Given the description of an element on the screen output the (x, y) to click on. 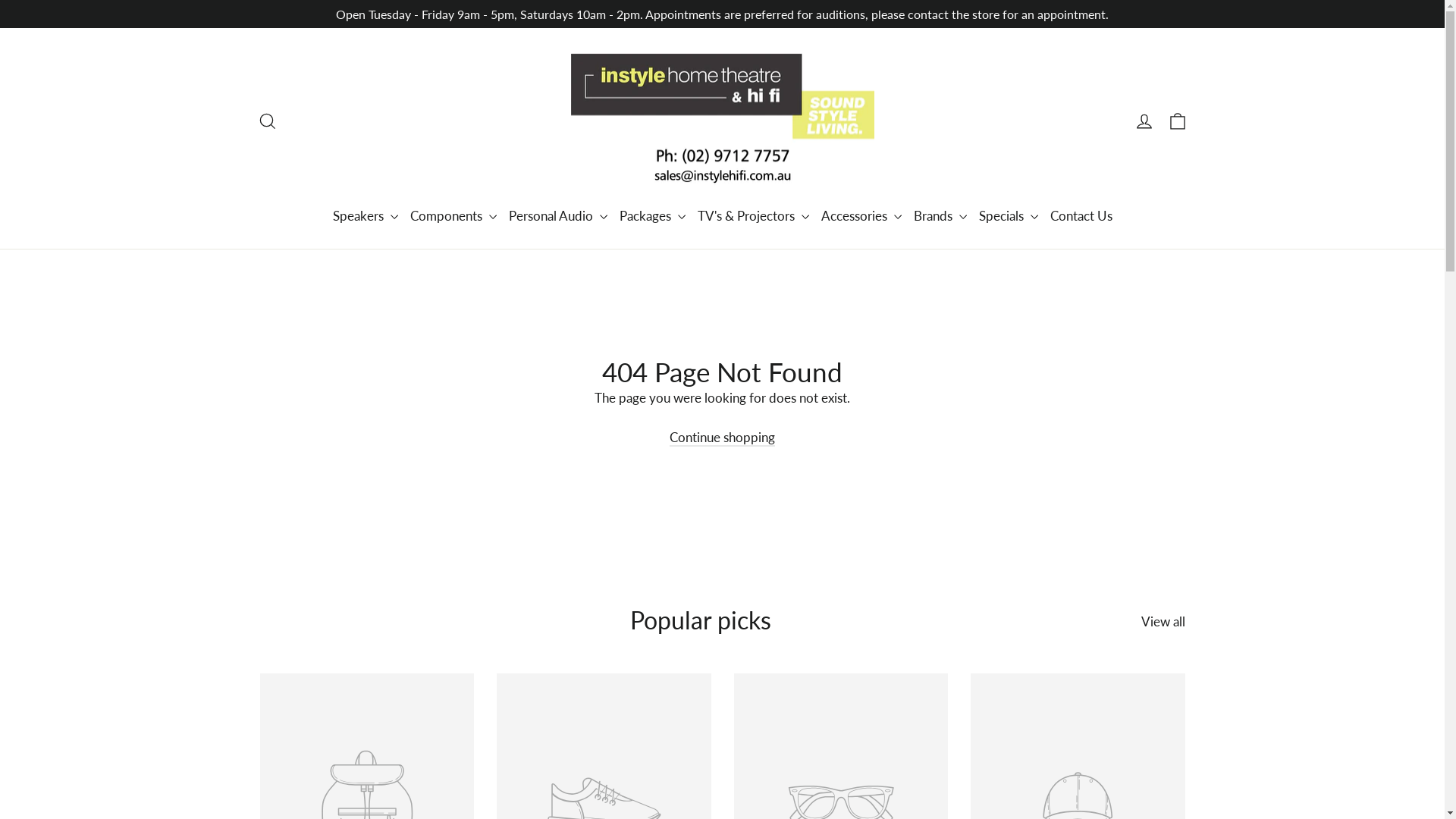
icon-bag-minimal
Cart Element type: text (1176, 120)
icon-search
Search Element type: text (266, 120)
account
Log in Element type: text (1143, 120)
View all Element type: text (1162, 618)
Contact Us Element type: text (1080, 215)
Continue shopping Element type: text (722, 437)
